Given the description of an element on the screen output the (x, y) to click on. 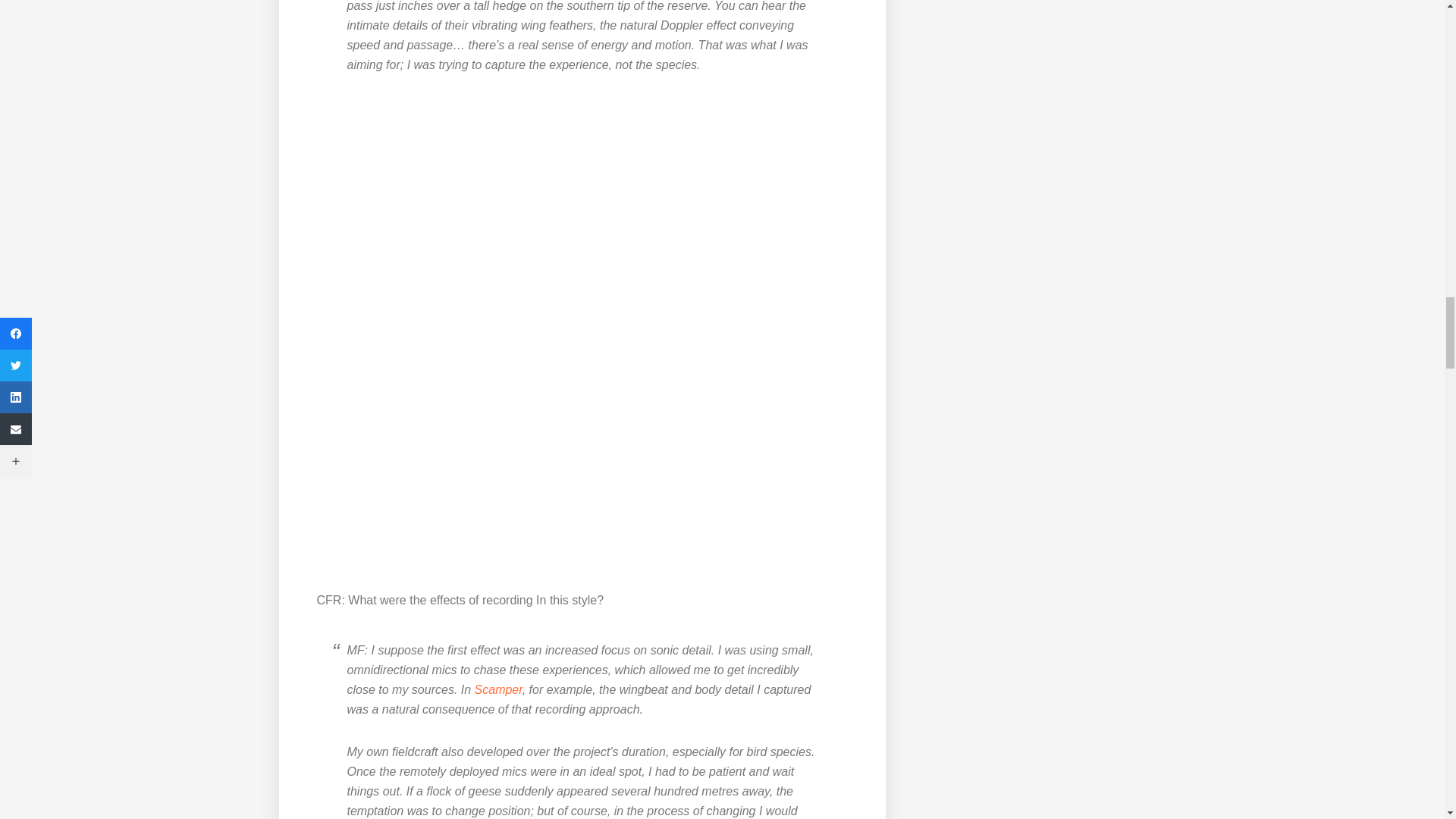
Scamper (498, 689)
